Given the description of an element on the screen output the (x, y) to click on. 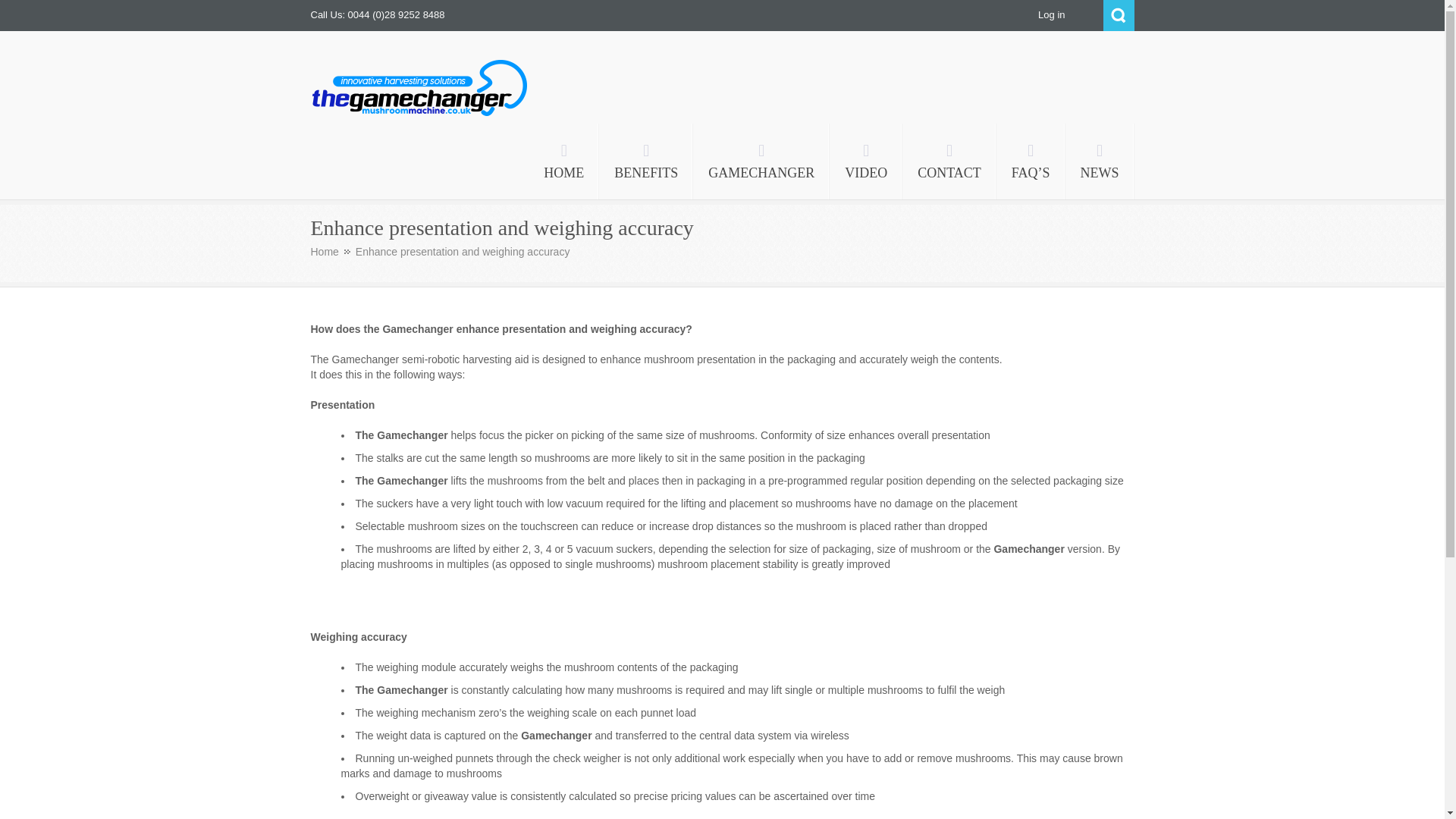
GAMECHANGER (761, 161)
Mushroom Machine (409, 133)
Log in (1051, 14)
NEWS (1099, 161)
CONTACT (948, 161)
BENEFITS (645, 161)
Search (1118, 15)
HOME (563, 161)
Search (1118, 15)
VIDEO (865, 161)
